Given the description of an element on the screen output the (x, y) to click on. 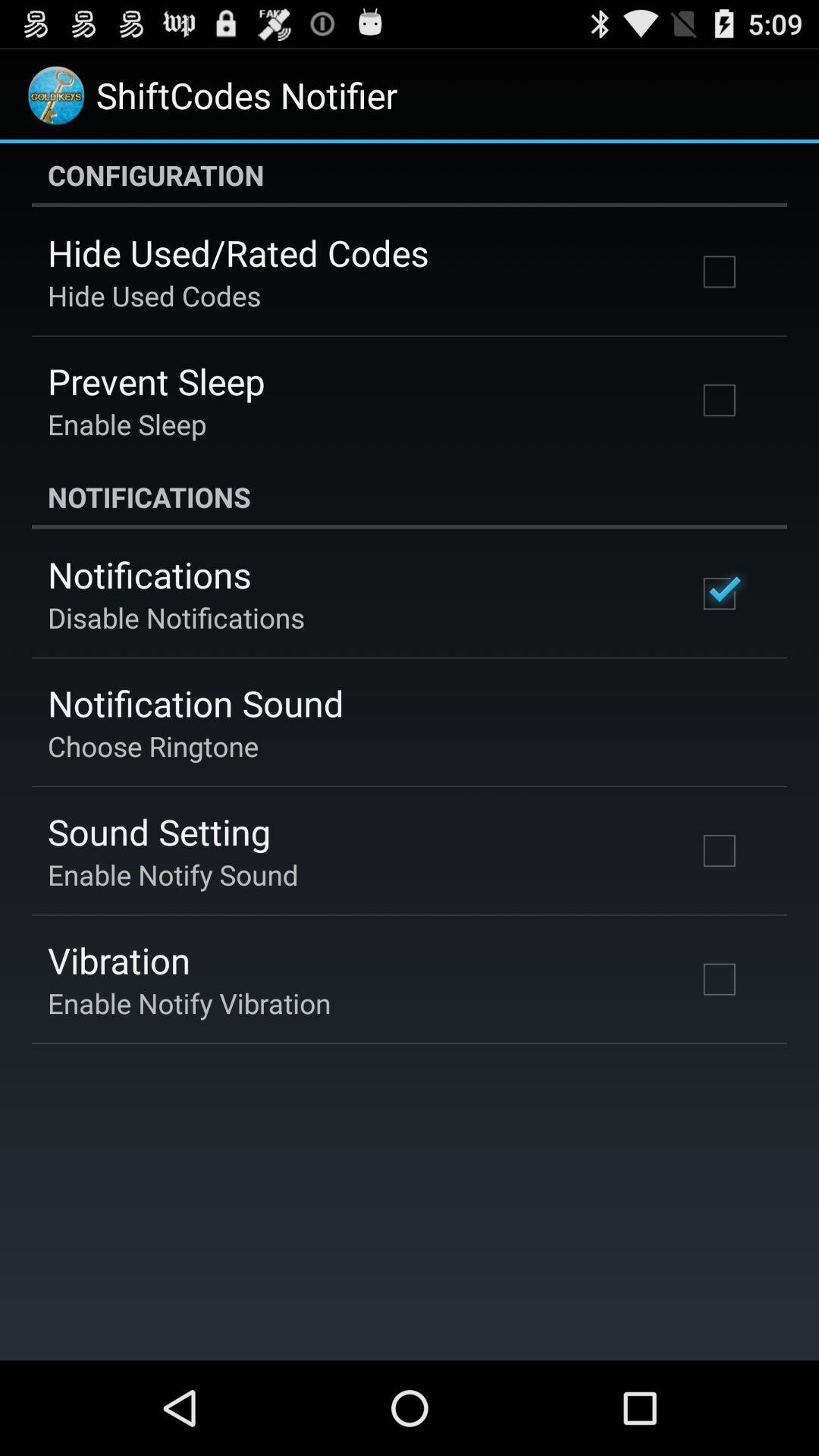
press app below the notification sound item (152, 745)
